Given the description of an element on the screen output the (x, y) to click on. 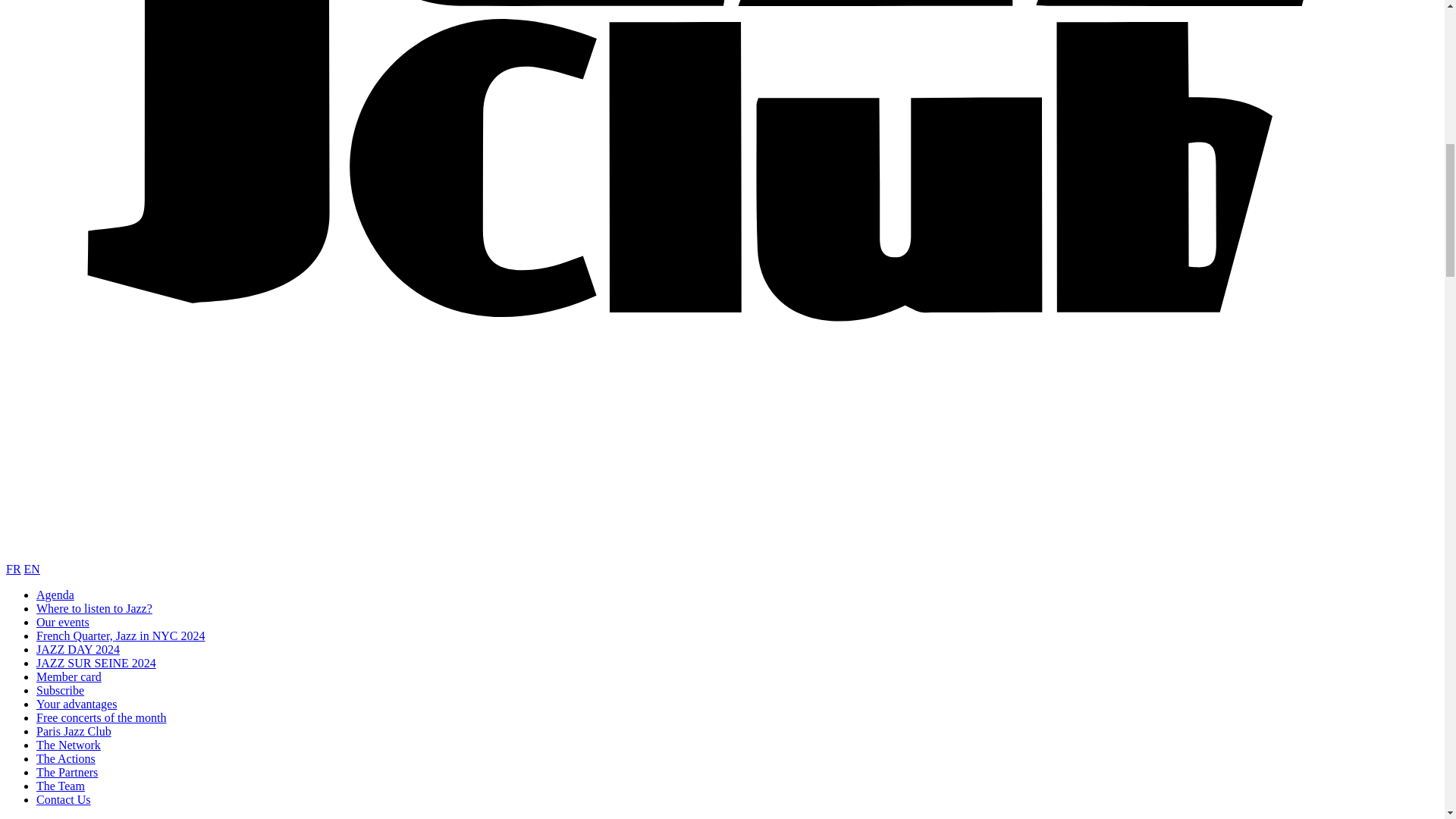
Subscribe (60, 689)
JAZZ SUR SEINE 2024 (95, 662)
Contact Us (63, 799)
Where to listen to Jazz? (94, 608)
The Team (60, 785)
Free concerts of the month (101, 717)
JAZZ DAY 2024 (77, 649)
EN (32, 568)
Your advantages (76, 703)
Our events (62, 621)
Member card (68, 676)
FR (13, 568)
The Network (68, 744)
Agenda (55, 594)
The Partners (66, 771)
